Given the description of an element on the screen output the (x, y) to click on. 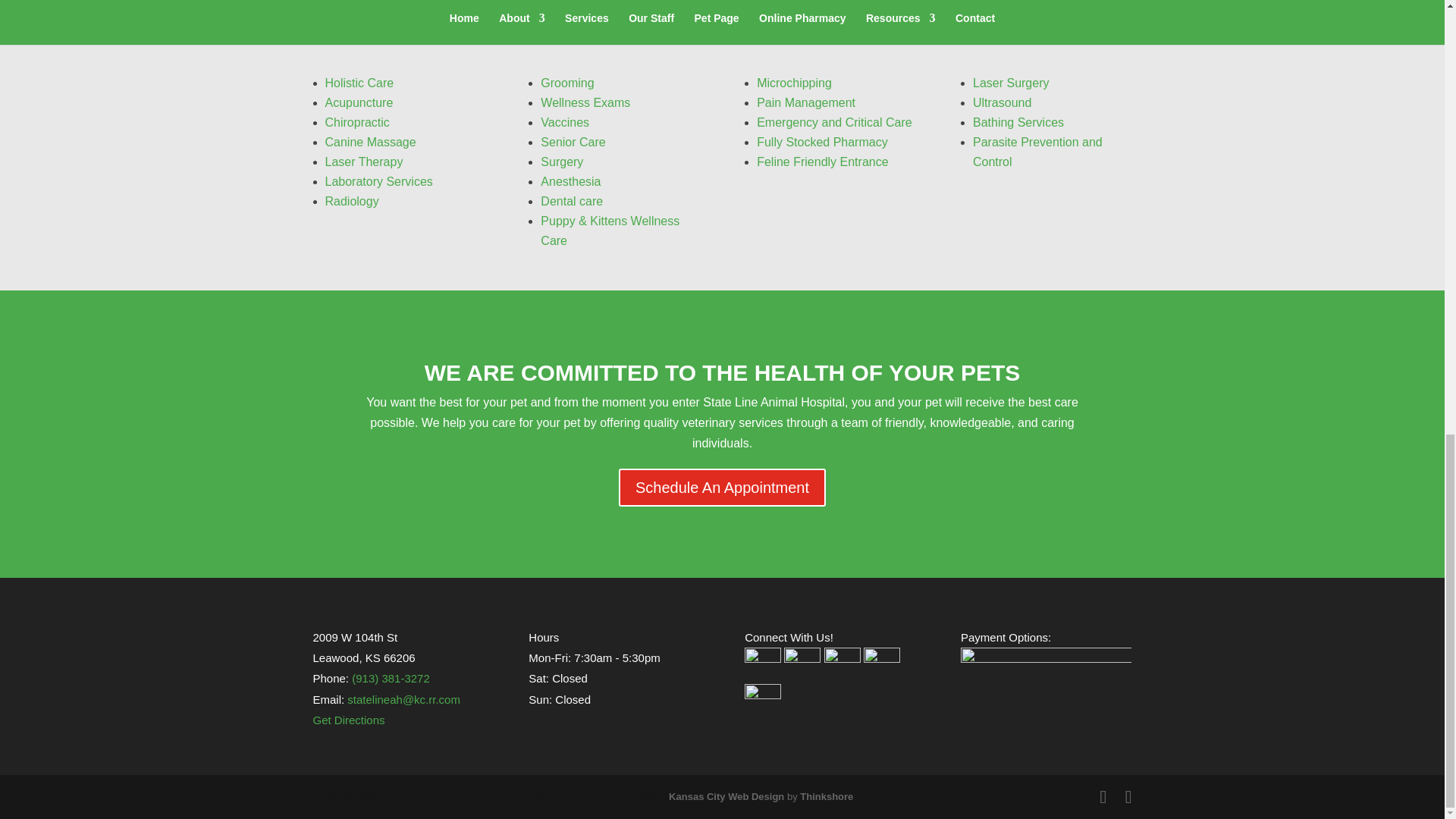
Canine Massage (369, 141)
Fully Stocked Pharmacy (822, 141)
Vaccines (564, 122)
Laboratory Services (378, 181)
Microchipping (794, 82)
Emergency and Critical Care (834, 122)
Schedule An Appointment (721, 487)
Surgery (561, 161)
Bathing Services (1018, 122)
Ultrasound (1001, 102)
Parasite Prevention and Control (1037, 151)
Pain Management (806, 102)
Anesthesia (569, 181)
Senior Care (572, 141)
Chiropractic (356, 122)
